Given the description of an element on the screen output the (x, y) to click on. 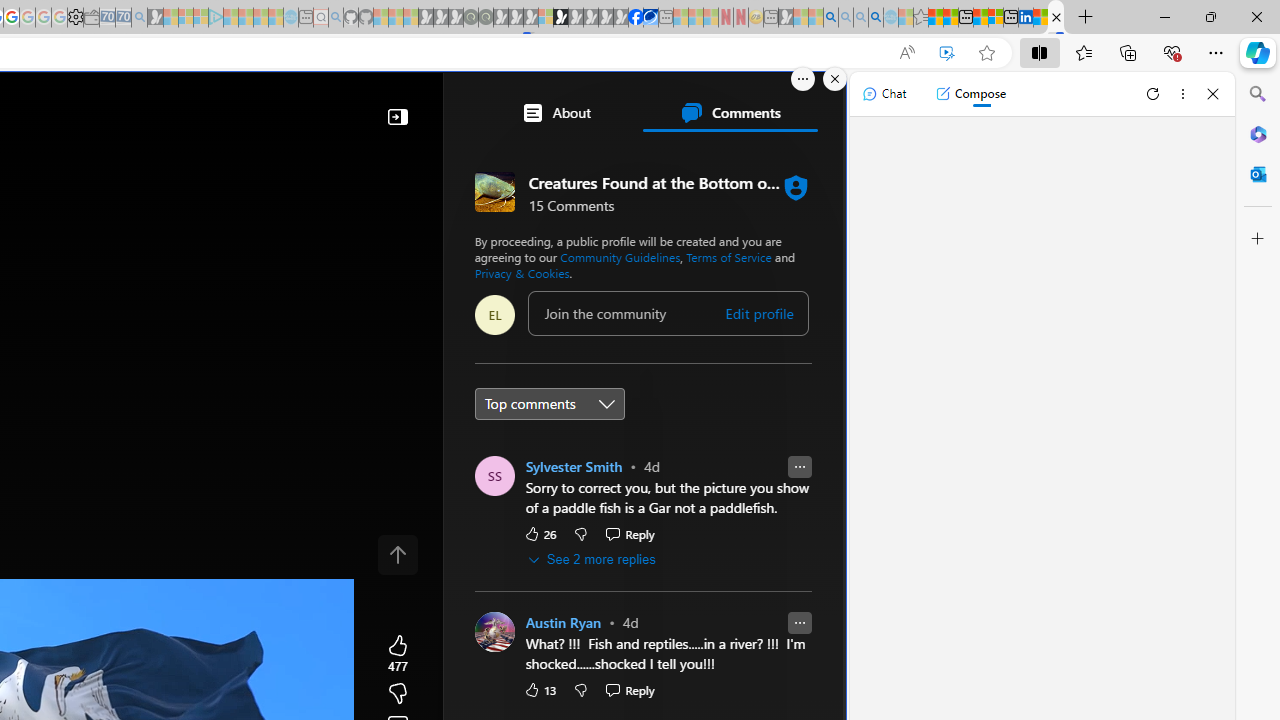
Profile Picture (493, 632)
Edit profile (758, 313)
Austin Ryan (562, 623)
github - Search - Sleeping (336, 17)
Bing Real Estate - Home sales and rental listings - Sleeping (139, 17)
Profile Picture (493, 632)
Microsoft Start Gaming - Sleeping (155, 17)
Sylvester Smith (573, 465)
